Given the description of an element on the screen output the (x, y) to click on. 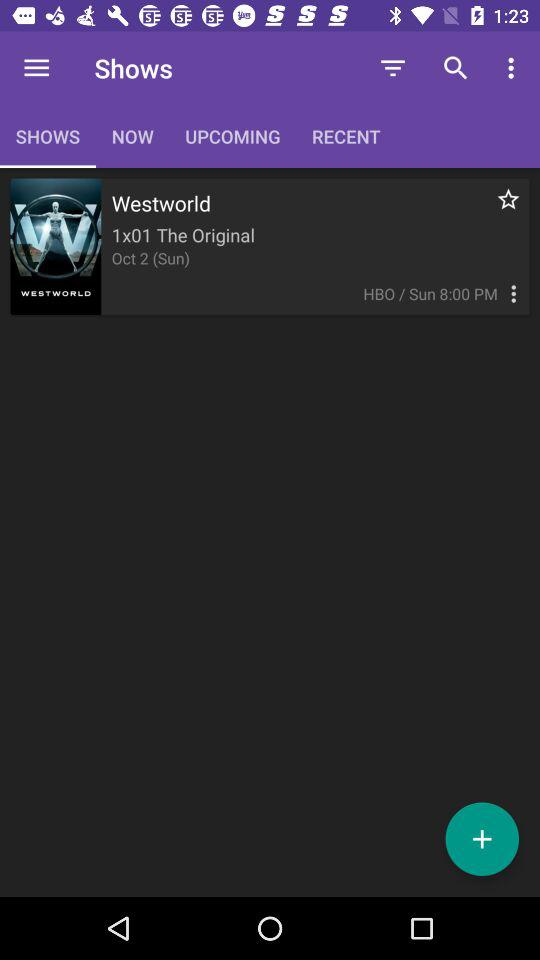
press the icon next to the shows item (36, 68)
